Given the description of an element on the screen output the (x, y) to click on. 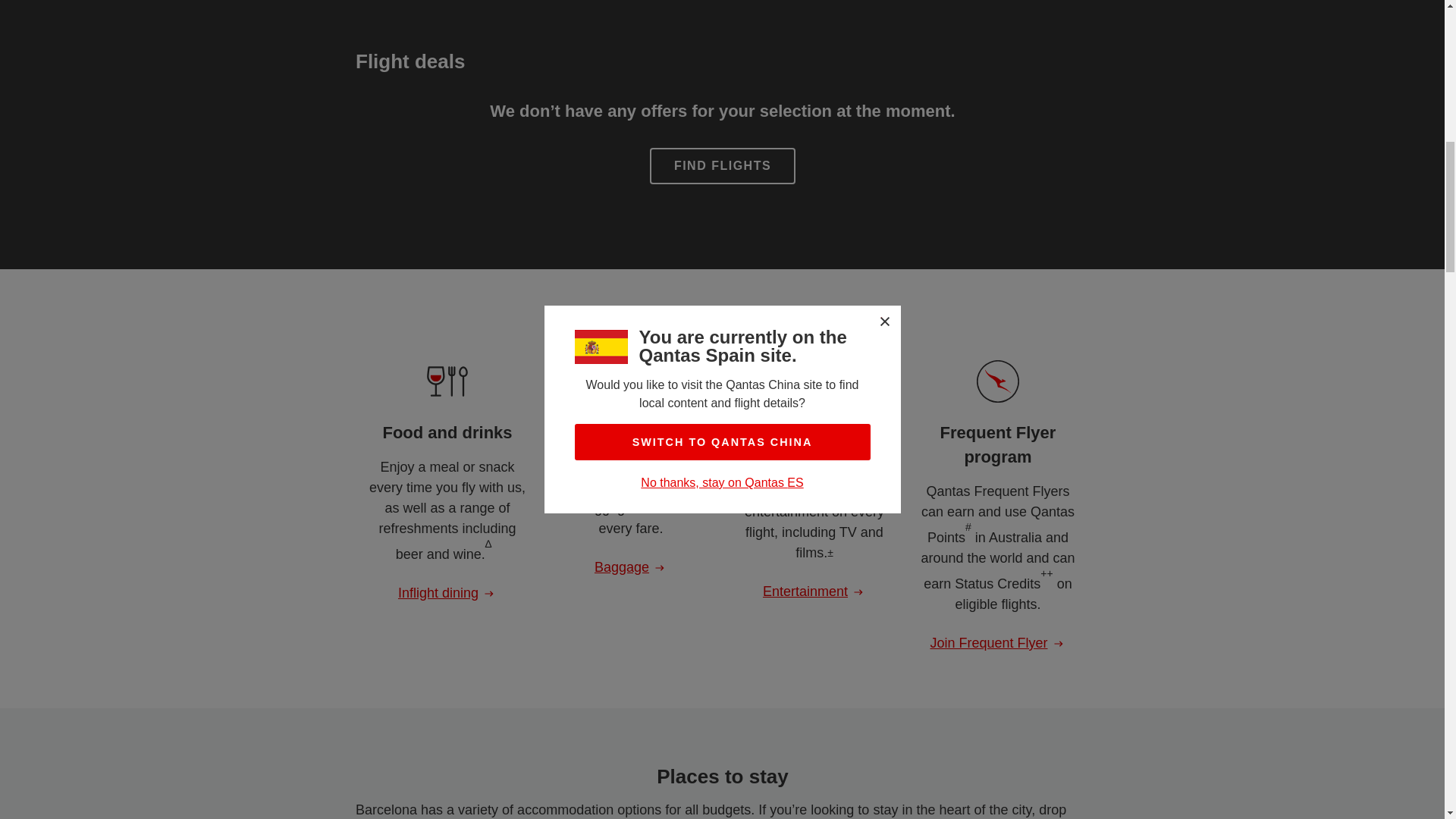
Baggage information (630, 567)
